Given the description of an element on the screen output the (x, y) to click on. 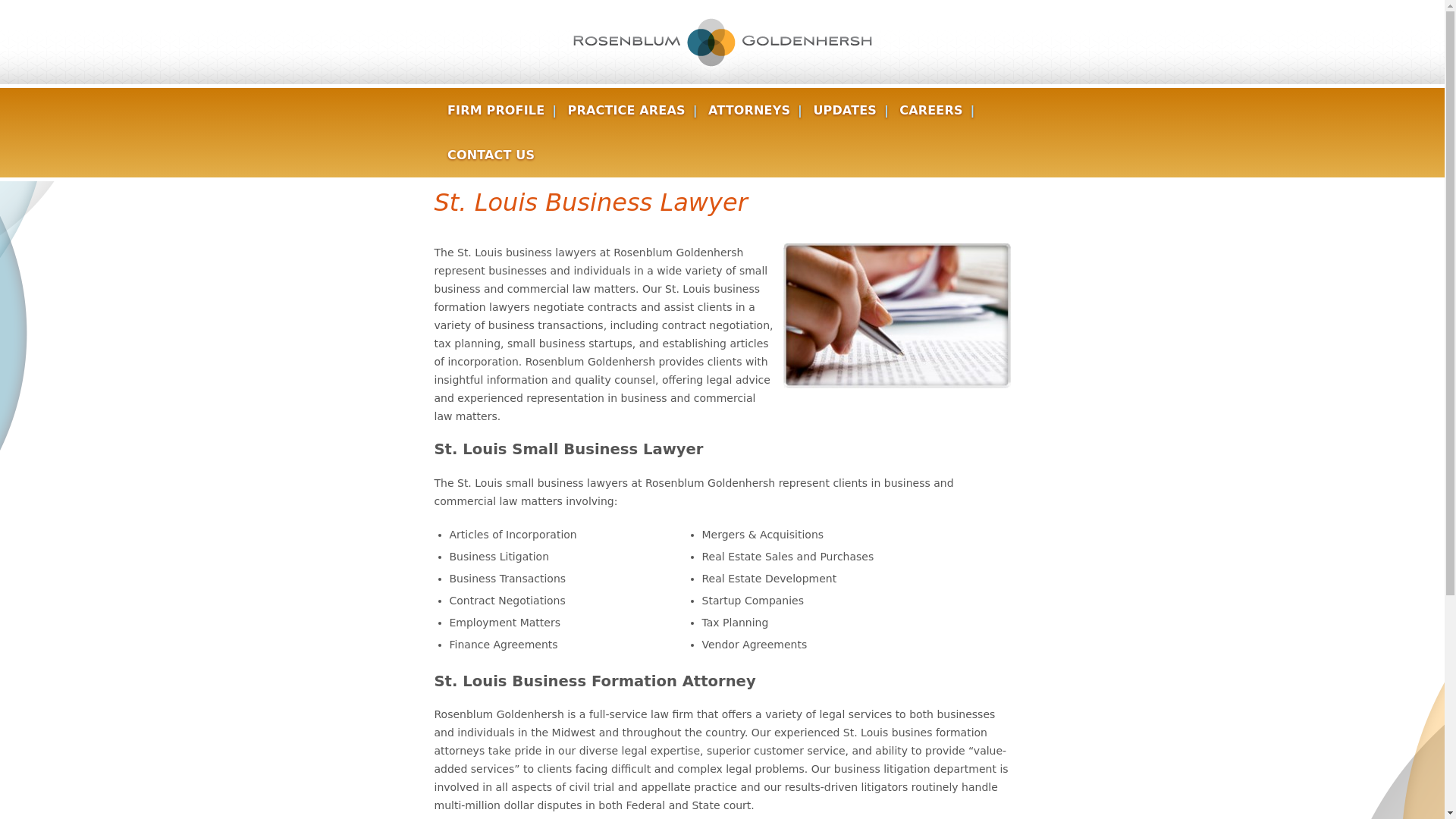
CAREERS (930, 110)
PRACTICE AREAS (626, 110)
ATTORNEYS (748, 110)
FIRM PROFILE (495, 110)
Rosenblum Goldenhersh (721, 42)
UPDATES (844, 110)
